Given the description of an element on the screen output the (x, y) to click on. 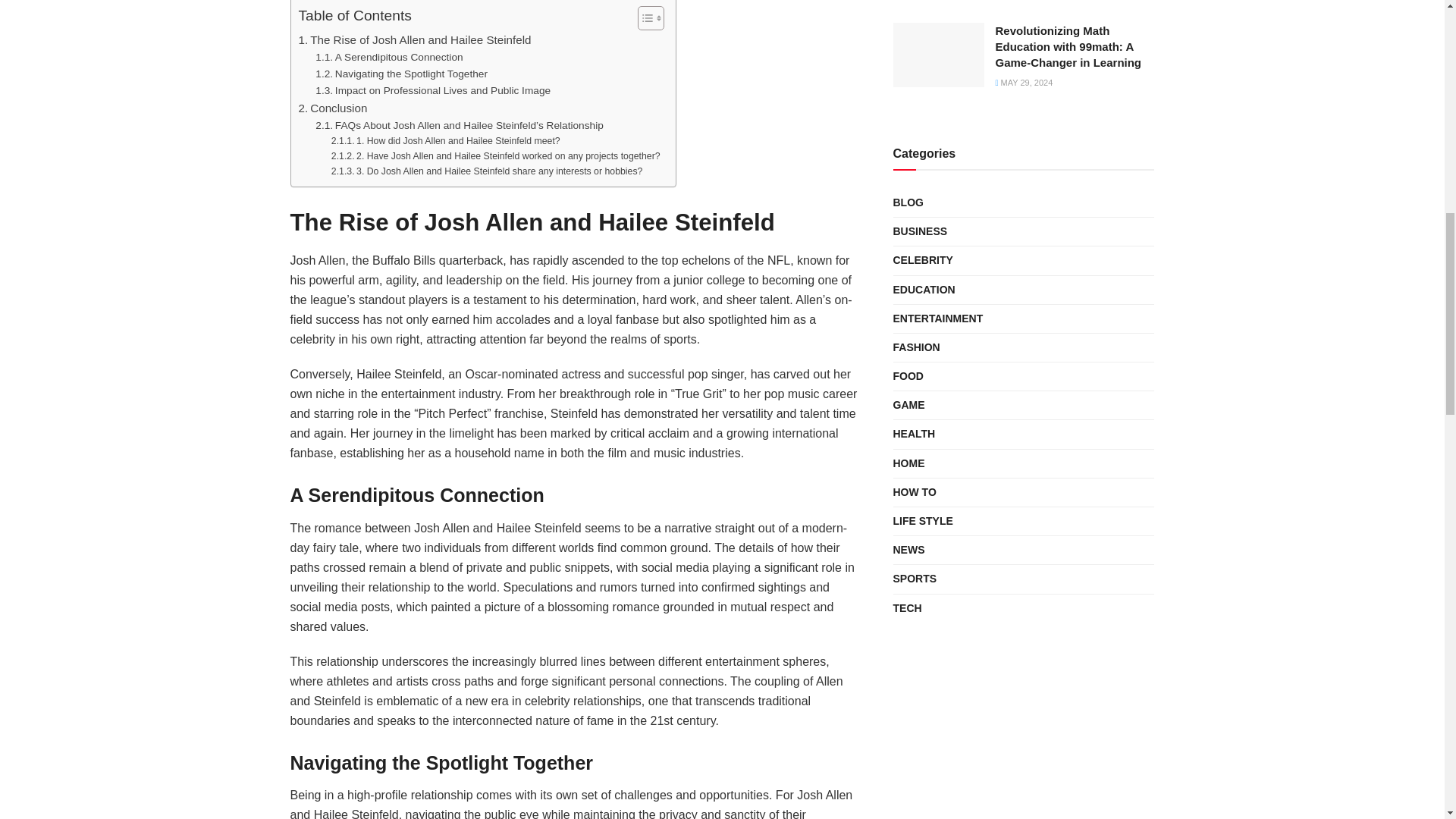
The Rise of Josh Allen and Hailee Steinfeld (414, 40)
Navigating the Spotlight Together (401, 74)
Impact on Professional Lives and Public Image (432, 90)
A Serendipitous Connection (389, 57)
Conclusion (333, 108)
1. How did Josh Allen and Hailee Steinfeld meet? (445, 141)
